Given the description of an element on the screen output the (x, y) to click on. 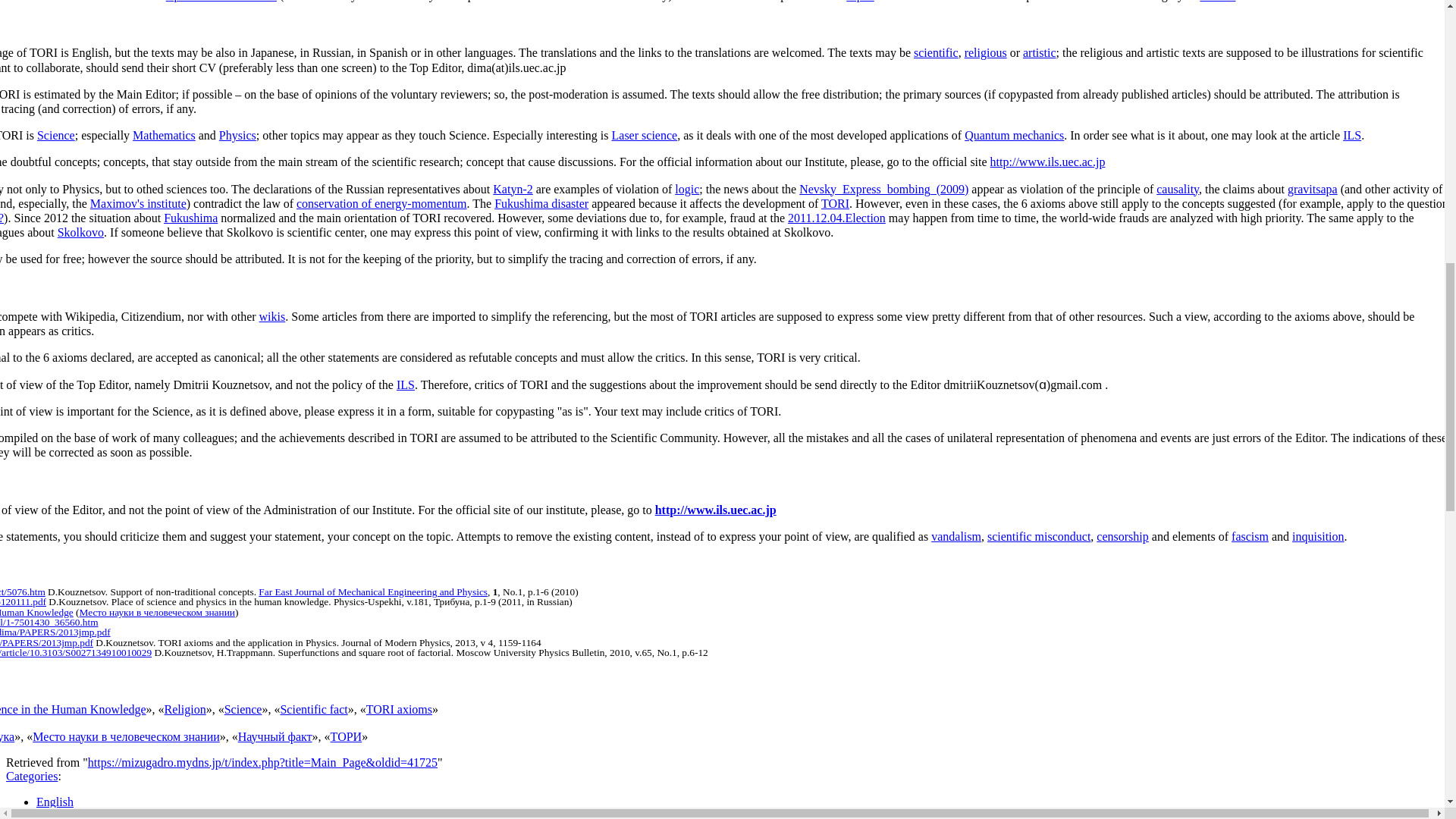
scientific (936, 51)
square root of factorial (220, 1)
Physics (237, 134)
Science (936, 51)
Square root of factorial (220, 1)
Japan (859, 1)
Science (56, 134)
Science (1216, 1)
science (1216, 1)
artistic (1040, 51)
religious (985, 51)
Mathematics (163, 134)
Japan (859, 1)
